Given the description of an element on the screen output the (x, y) to click on. 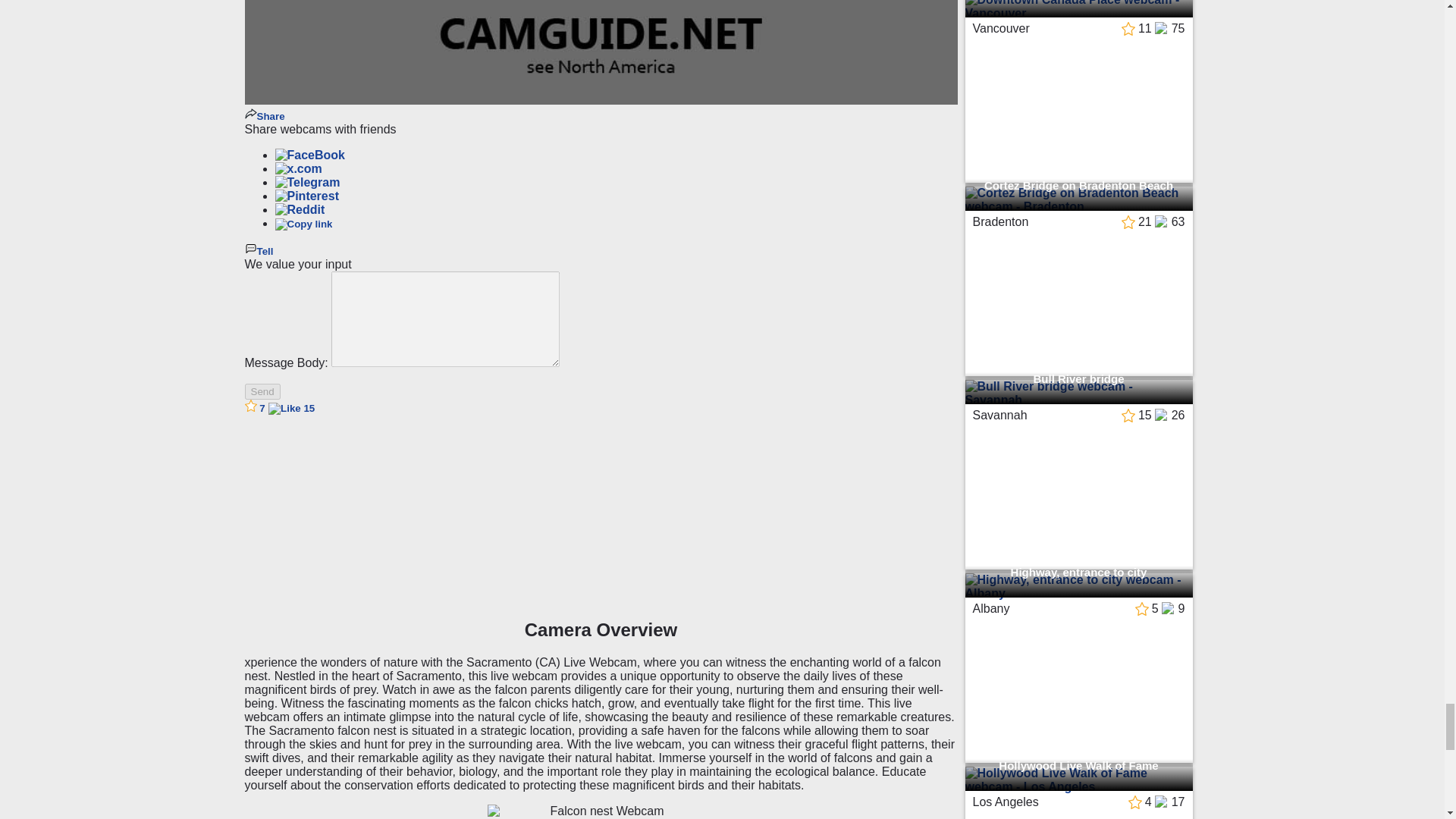
Share on Pinterest (306, 195)
Send (261, 391)
Share on Telegram (307, 182)
Share on FaceBook (309, 154)
Share on Reddit (299, 209)
Share on X (298, 168)
